Given the description of an element on the screen output the (x, y) to click on. 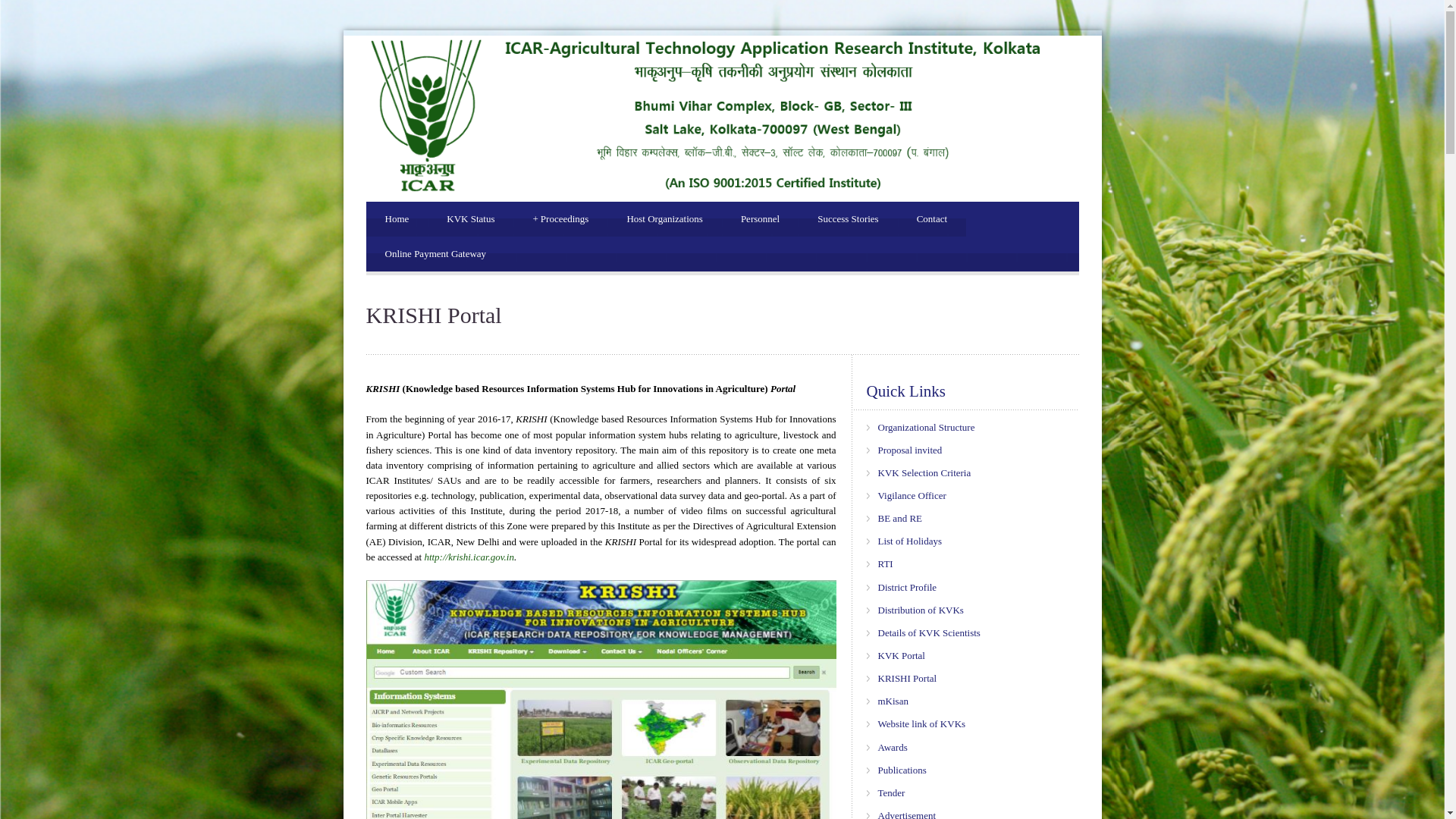
Host Organizations (664, 218)
Home (396, 218)
KVK Status (470, 218)
Personnel (759, 218)
